Given the description of an element on the screen output the (x, y) to click on. 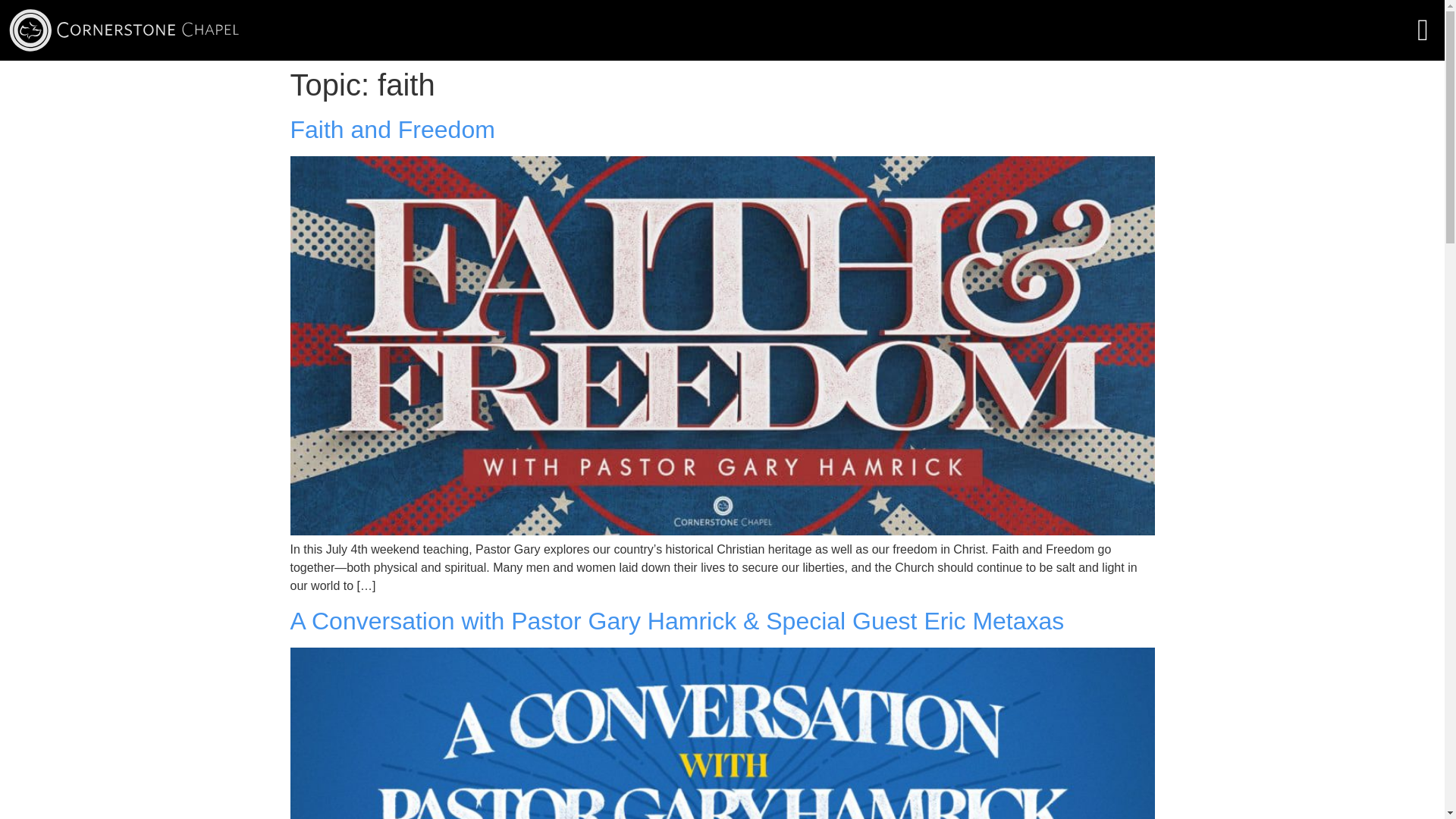
Faith and Freedom (392, 129)
